Given the description of an element on the screen output the (x, y) to click on. 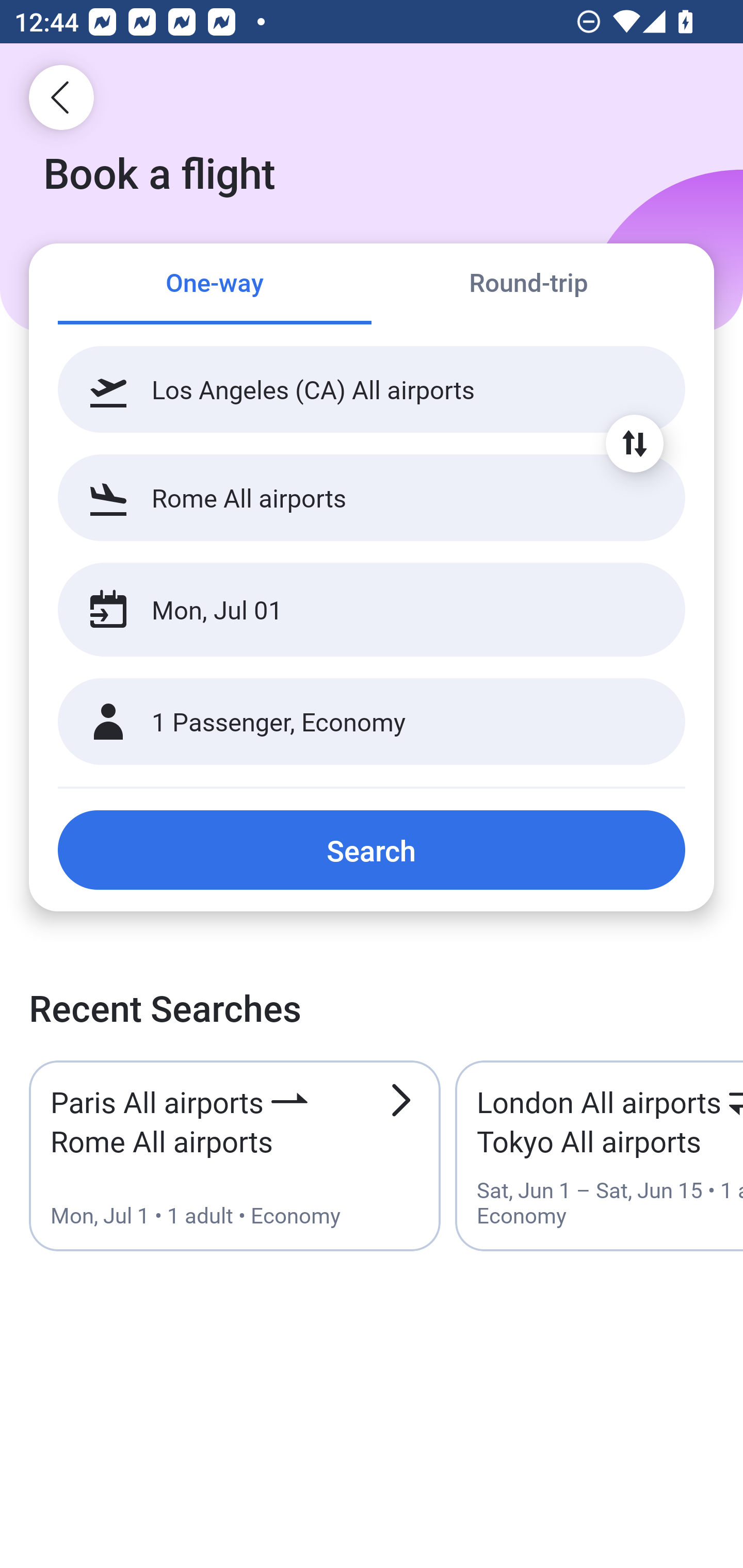
Round-trip (528, 284)
Los Angeles (CA) All airports (371, 389)
Rome All airports (371, 497)
Mon, Jul 01 (349, 609)
1 Passenger, Economy (371, 721)
Search (371, 849)
